Given the description of an element on the screen output the (x, y) to click on. 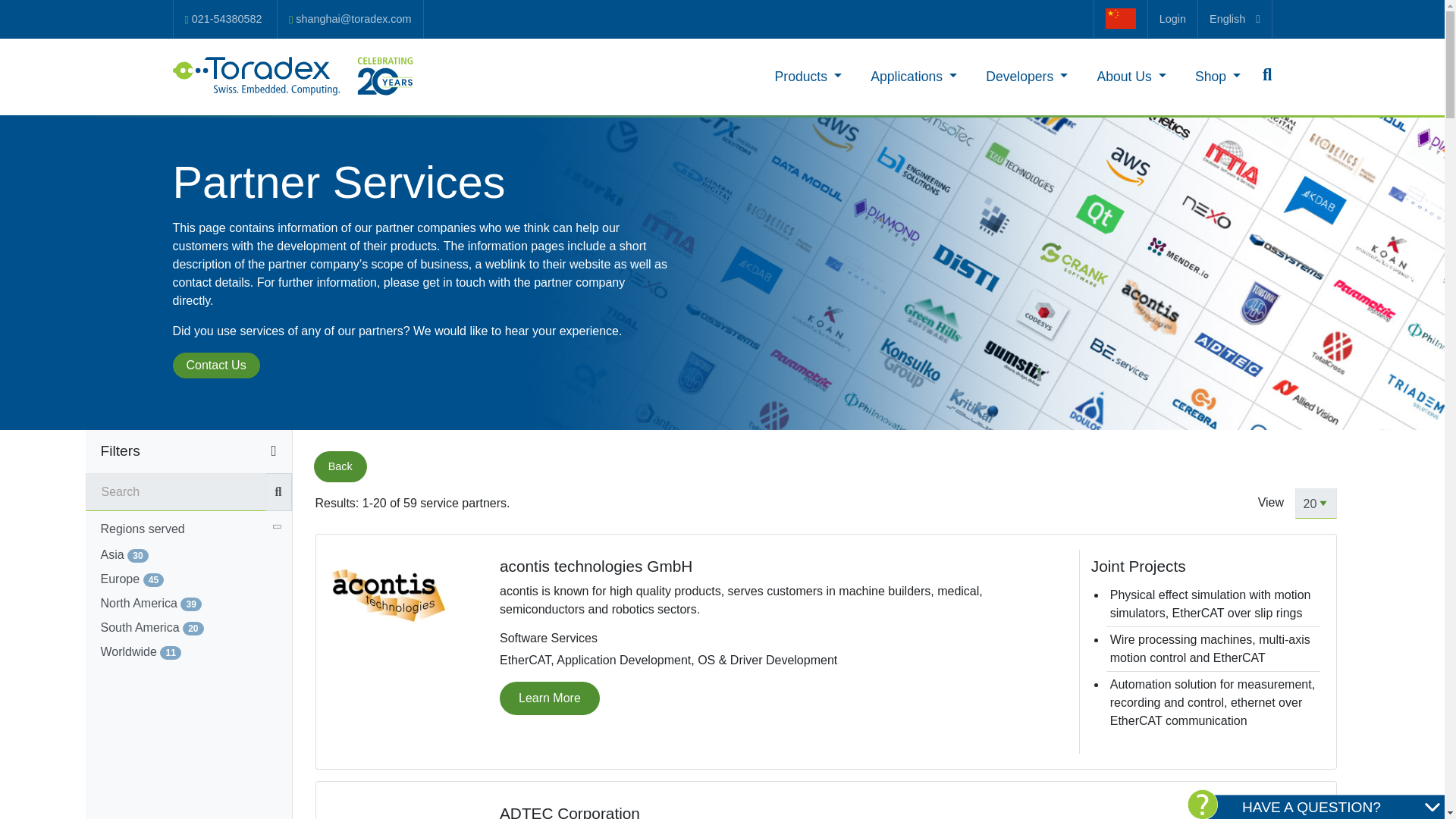
021-54380582 (223, 19)
Login (1172, 18)
English (1234, 18)
Toradex - Global Leader in Arm Embedded Computer Modules (293, 75)
Products (808, 76)
